Given the description of an element on the screen output the (x, y) to click on. 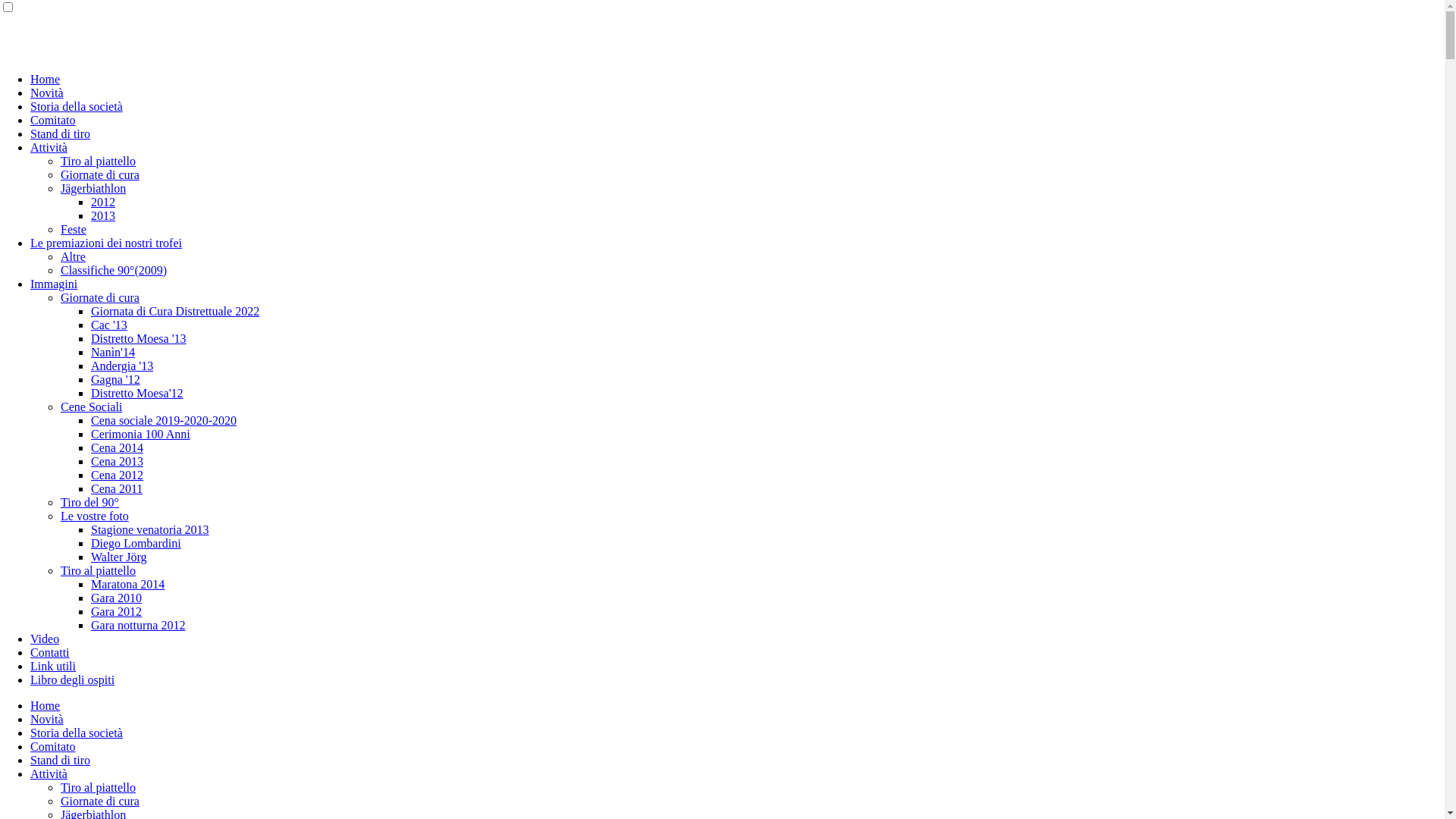
Altre Element type: text (72, 256)
Tiro al piattello Element type: text (97, 160)
Cena sociale 2019-2020-2020 Element type: text (163, 420)
Diego Lombardini Element type: text (136, 542)
Distretto Moesa'12 Element type: text (137, 392)
Distretto Moesa '13 Element type: text (138, 338)
Cene Sociali Element type: text (91, 406)
Cena 2014 Element type: text (117, 447)
Stand di tiro Element type: text (60, 133)
Giornate di cura Element type: text (99, 800)
Home Element type: text (44, 705)
Gara 2012 Element type: text (116, 611)
Cena 2011 Element type: text (116, 488)
Gara 2010 Element type: text (116, 597)
Libro degli ospiti Element type: text (72, 679)
Link utili Element type: text (52, 665)
Gagna '12 Element type: text (115, 379)
Giornate di cura Element type: text (99, 174)
Cerimonia 100 Anni Element type: text (140, 433)
Le vostre foto Element type: text (94, 515)
Tiro al piattello Element type: text (97, 570)
Comitato Element type: text (52, 119)
Cena 2012 Element type: text (117, 474)
Stand di tiro Element type: text (60, 759)
Stagione venatoria 2013 Element type: text (150, 529)
Giornate di cura Element type: text (99, 297)
Giornata di Cura Distrettuale 2022 Element type: text (175, 310)
Cena 2013 Element type: text (117, 461)
Video Element type: text (44, 638)
Andergia '13 Element type: text (122, 365)
Gara notturna 2012 Element type: text (138, 624)
Feste Element type: text (73, 228)
Home Element type: text (44, 78)
Le premiazioni dei nostri trofei Element type: text (106, 242)
Immagini Element type: text (53, 283)
Tiro al piattello Element type: text (97, 787)
2013 Element type: text (103, 215)
Comitato Element type: text (52, 746)
2012 Element type: text (103, 201)
Contatti Element type: text (49, 652)
Cac '13 Element type: text (109, 324)
Maratona 2014 Element type: text (127, 583)
